Given the description of an element on the screen output the (x, y) to click on. 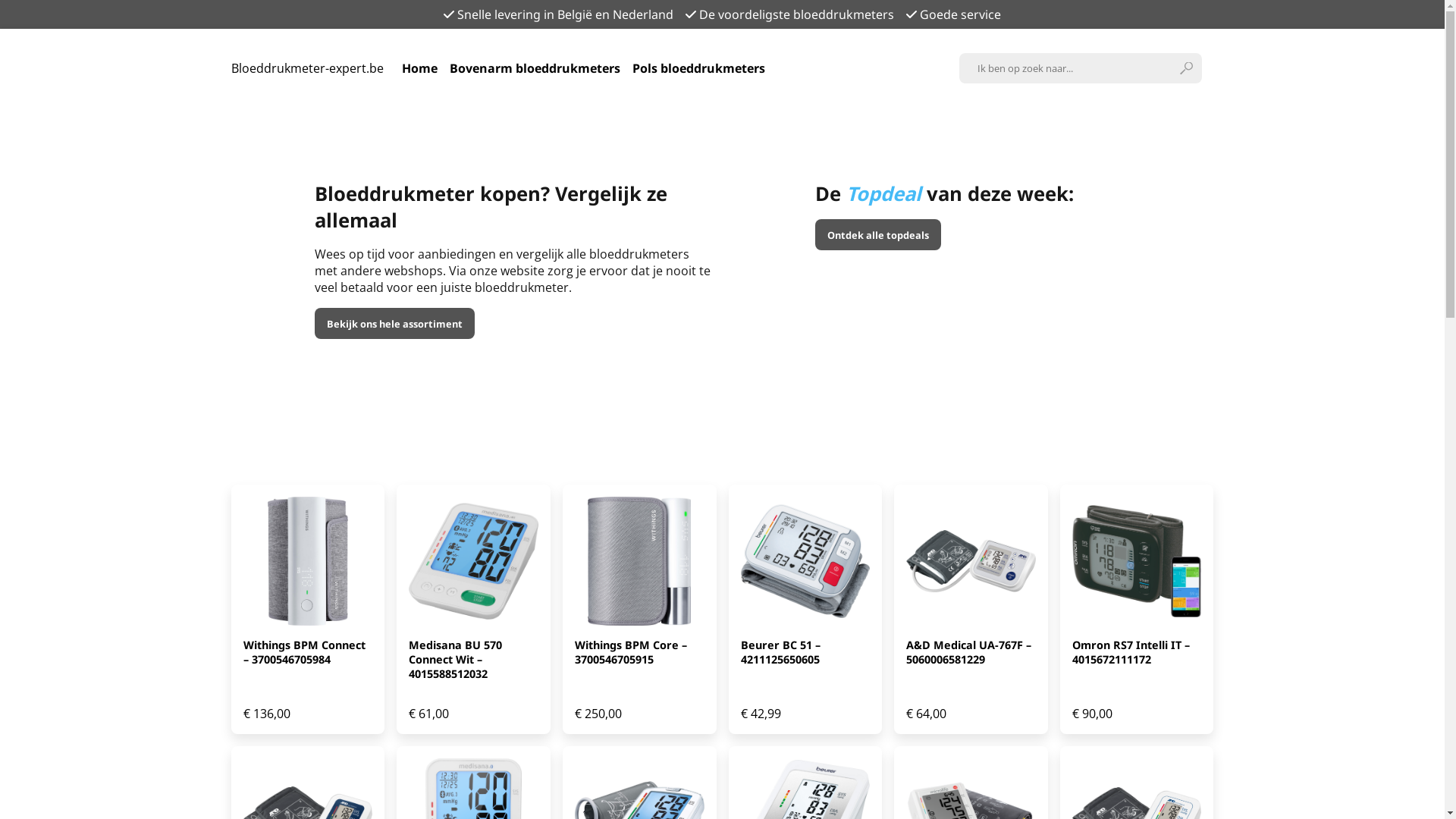
Bekijk ons hele assortiment Element type: text (393, 322)
Bovenarm bloeddrukmeters Element type: text (533, 67)
Pols bloeddrukmeters Element type: text (698, 67)
Ontdek alle topdeals Element type: text (877, 234)
Home Element type: text (419, 67)
